Given the description of an element on the screen output the (x, y) to click on. 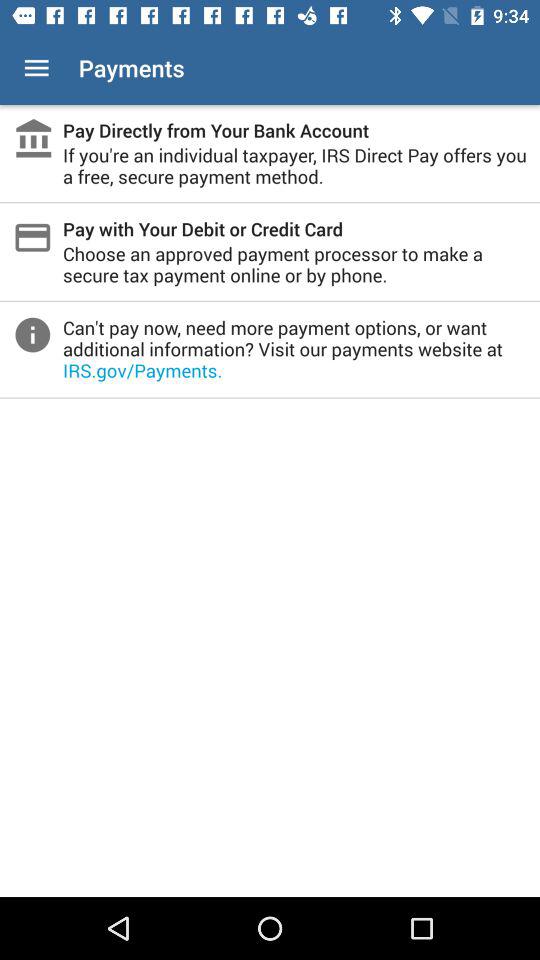
select item next to the payments icon (36, 68)
